Given the description of an element on the screen output the (x, y) to click on. 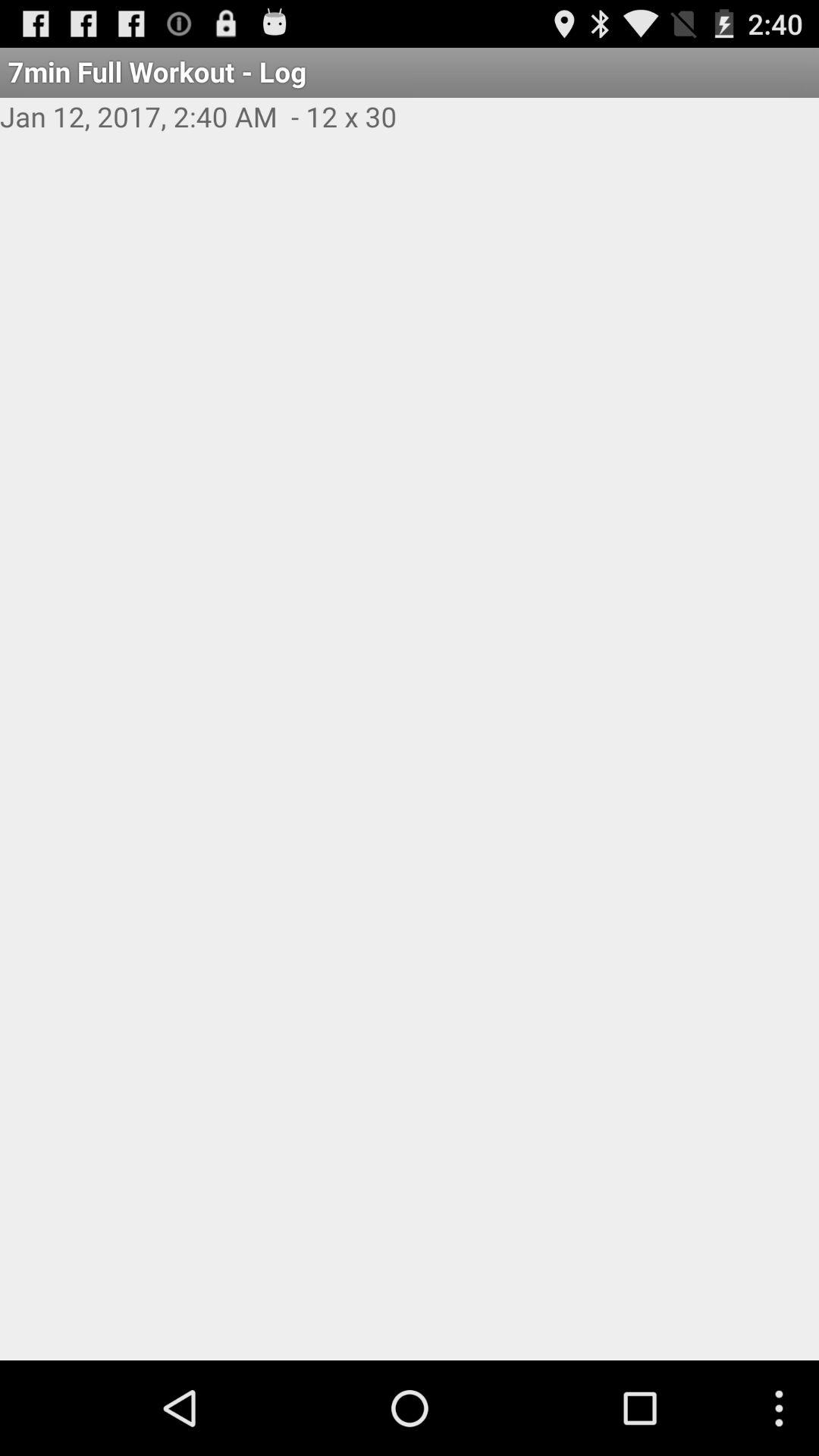
flip until jan 12 2017 (409, 132)
